Given the description of an element on the screen output the (x, y) to click on. 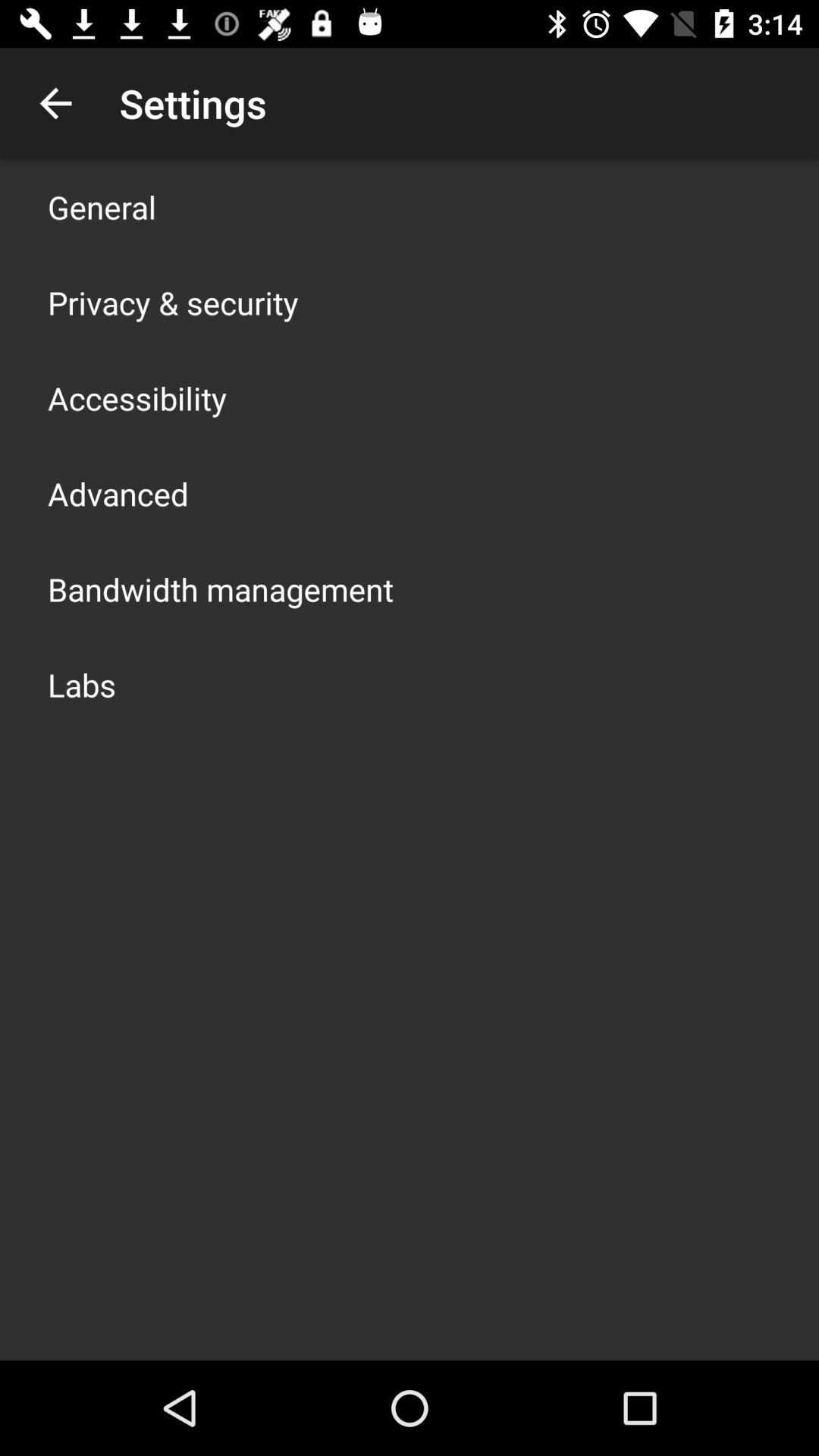
open the item to the left of settings item (55, 103)
